Given the description of an element on the screen output the (x, y) to click on. 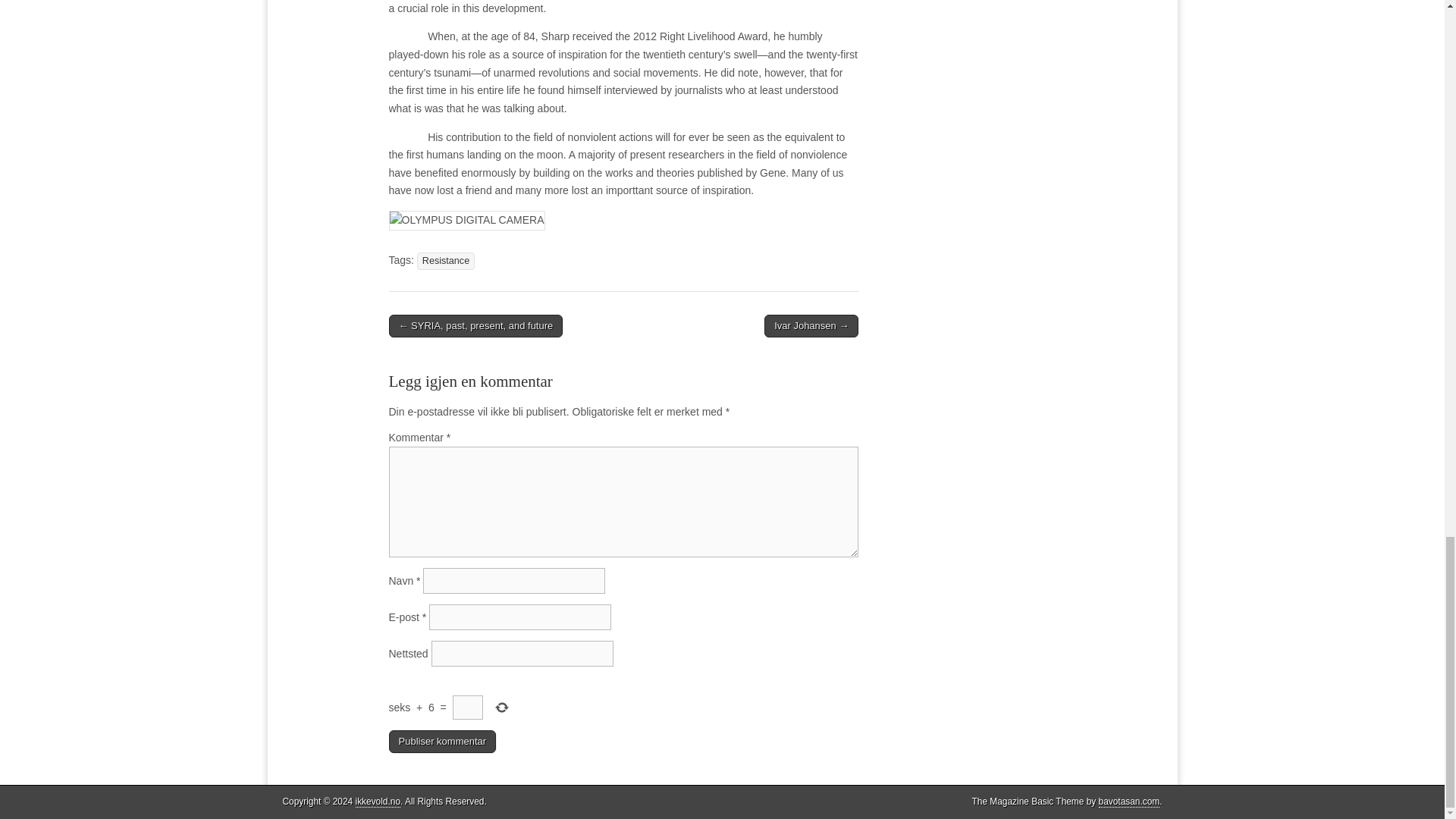
Resistance (445, 261)
Publiser kommentar (442, 741)
Publiser kommentar (442, 741)
